Given the description of an element on the screen output the (x, y) to click on. 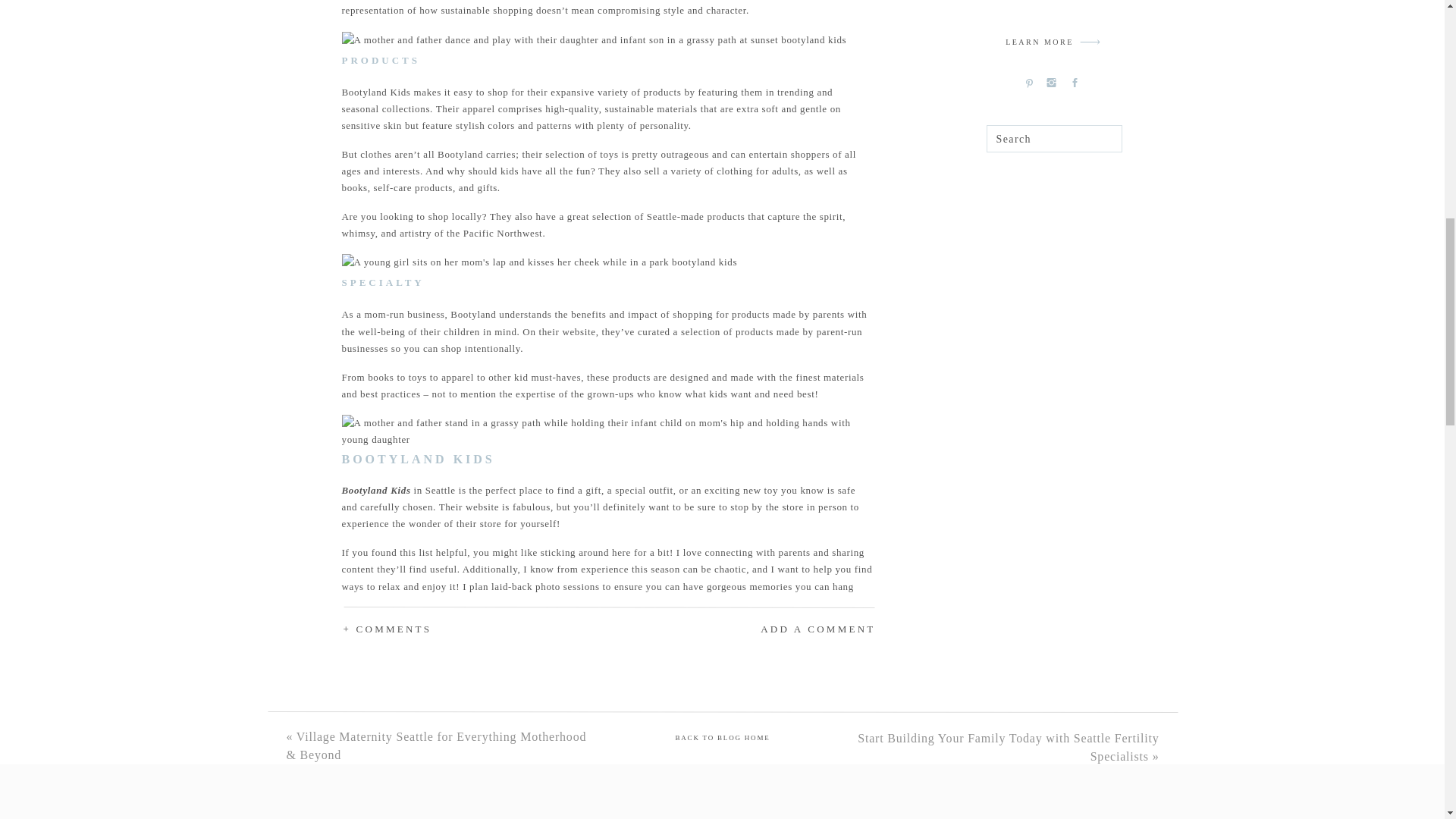
ADD A COMMENT (776, 629)
BACK TO BLOG HOME (722, 738)
arrow (1089, 41)
LEARN MORE (1039, 44)
Why The Birth House is an Amazing Olympia Birth Center! (488, 665)
arrow (1089, 41)
